Given the description of an element on the screen output the (x, y) to click on. 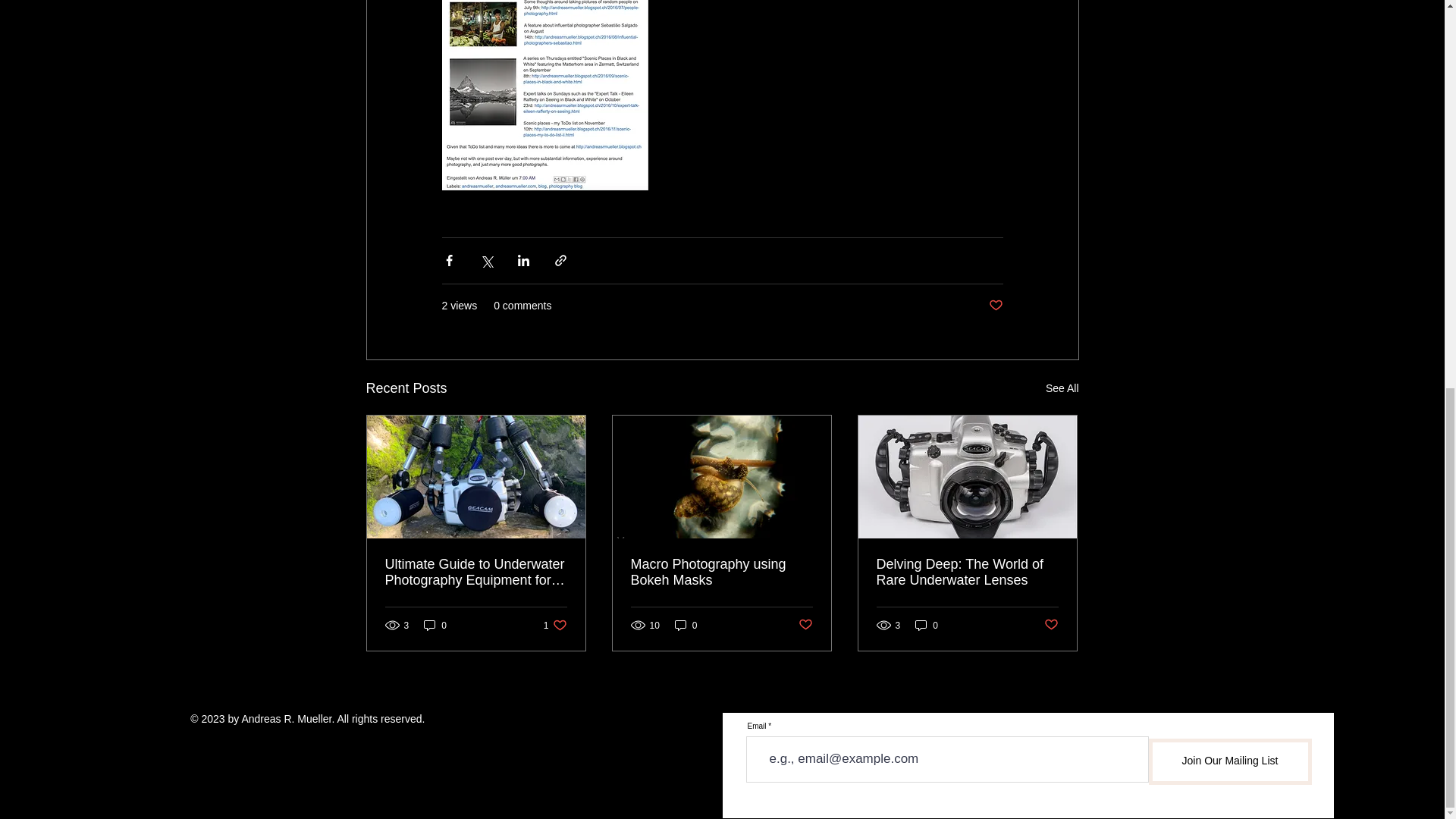
0 (555, 625)
Post not marked as liked (926, 625)
Post not marked as liked (804, 625)
0 (995, 305)
Delving Deep: The World of Rare Underwater Lenses (435, 625)
See All (967, 572)
0 (1061, 388)
Macro Photography using Bokeh Masks (685, 625)
